Given the description of an element on the screen output the (x, y) to click on. 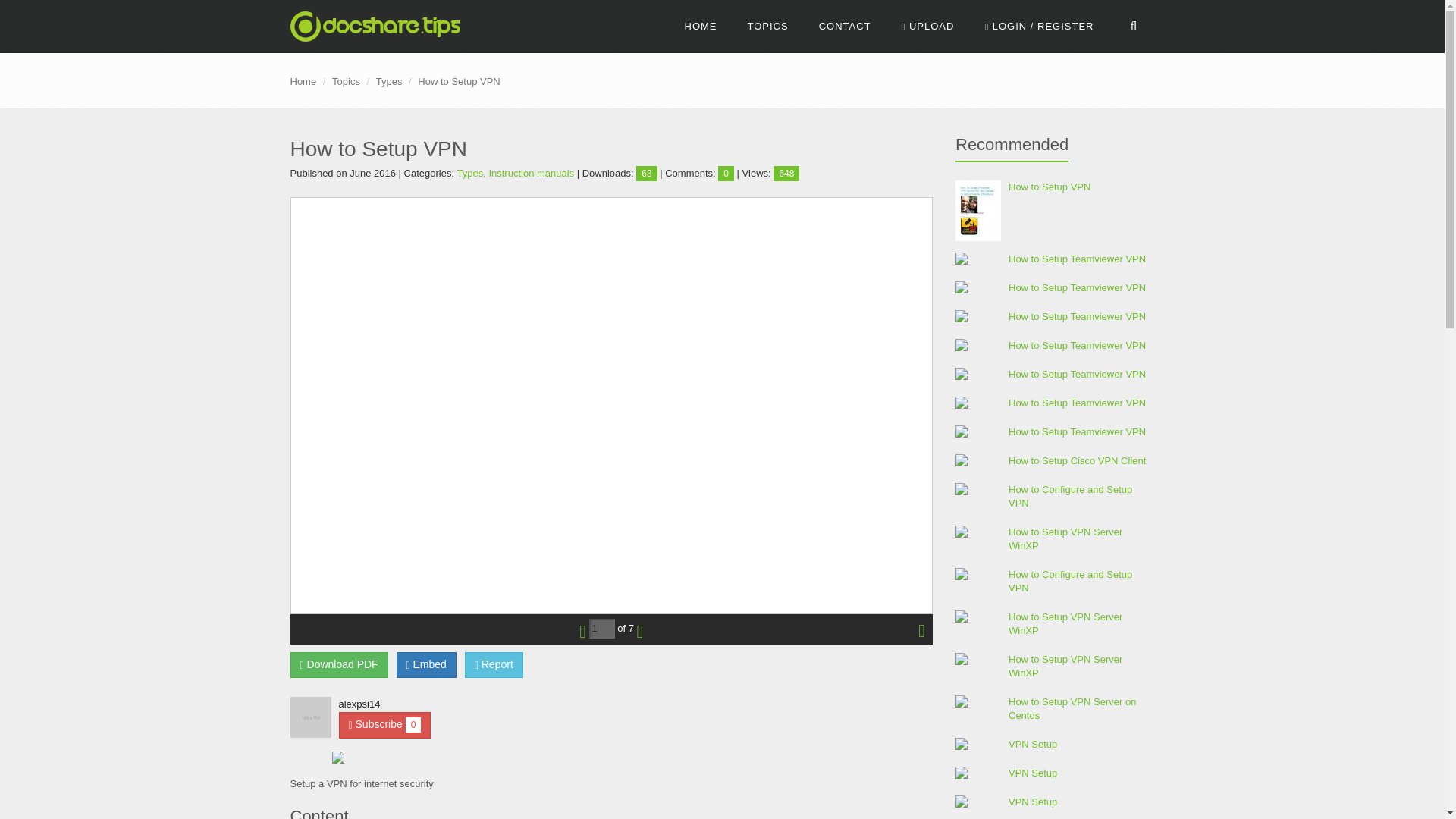
HOME (700, 26)
Share (426, 664)
1 (601, 629)
TOPICS (767, 26)
